Given the description of an element on the screen output the (x, y) to click on. 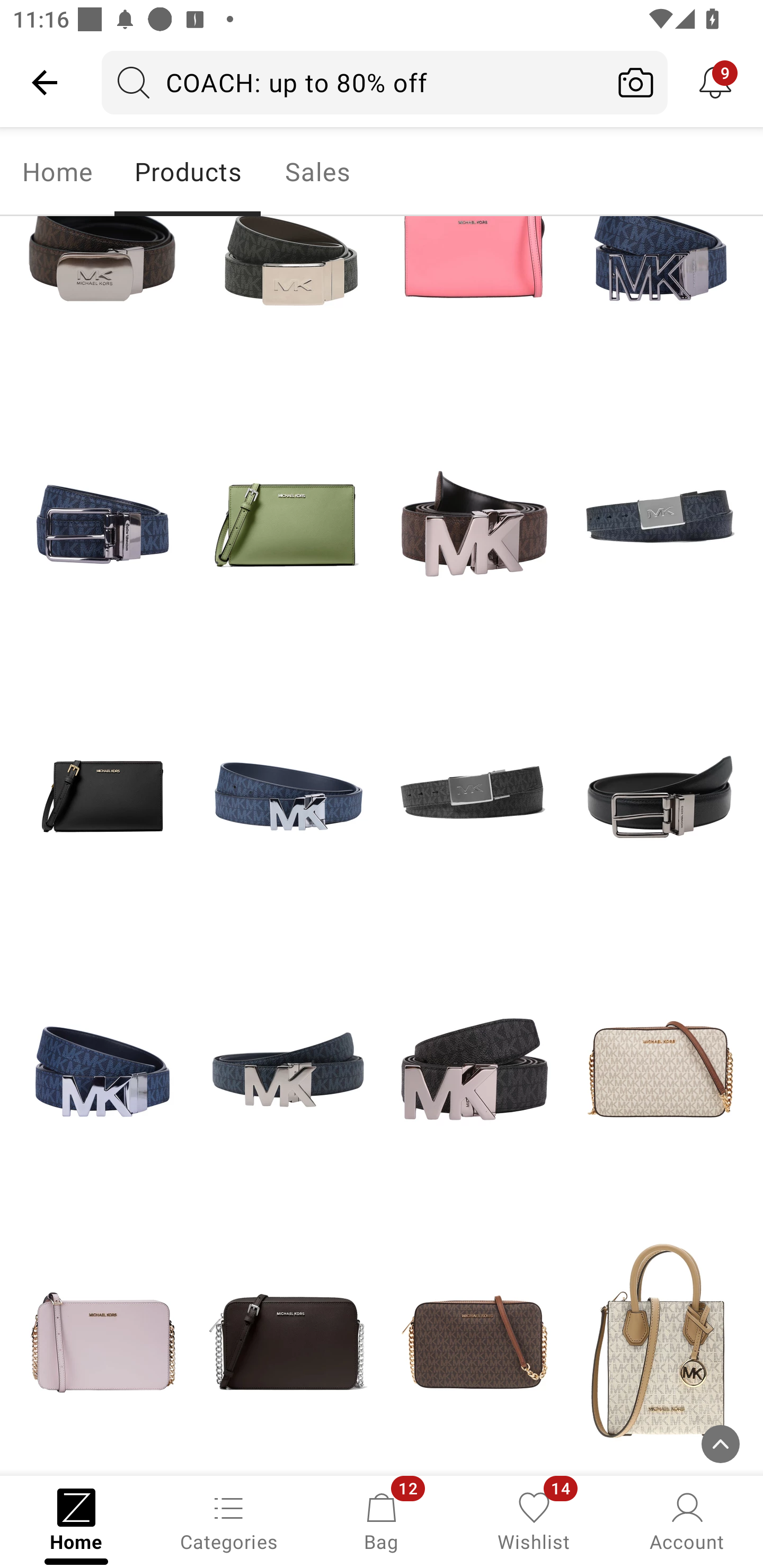
Navigate up (44, 82)
COACH: up to 80% off (352, 82)
Home (57, 171)
Sales (317, 171)
Categories (228, 1519)
Bag, 12 new notifications Bag (381, 1519)
Wishlist, 14 new notifications Wishlist (533, 1519)
Account (686, 1519)
